Given the description of an element on the screen output the (x, y) to click on. 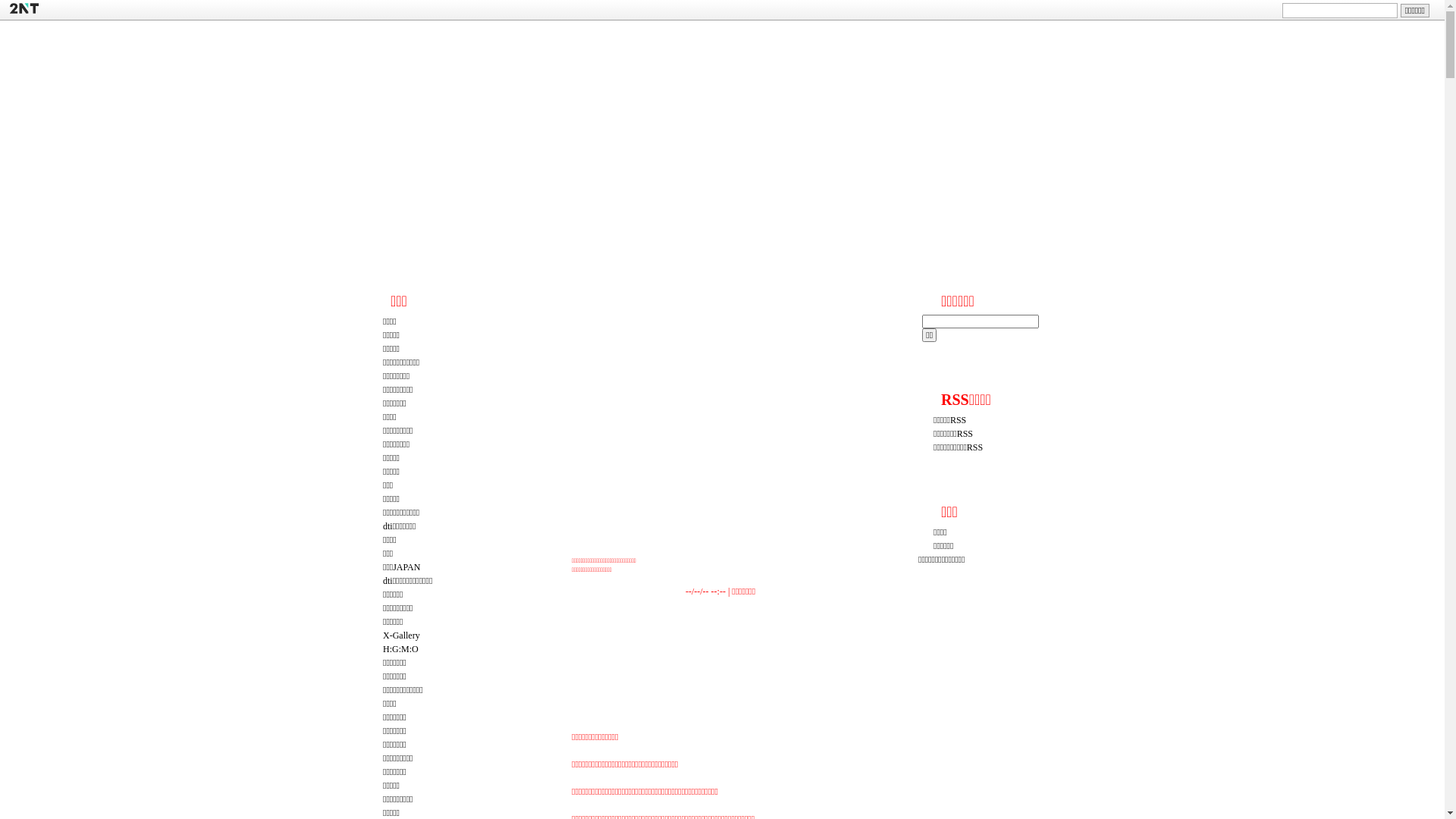
X-Gallery Element type: text (401, 635)
H:G:M:O Element type: text (400, 648)
